Given the description of an element on the screen output the (x, y) to click on. 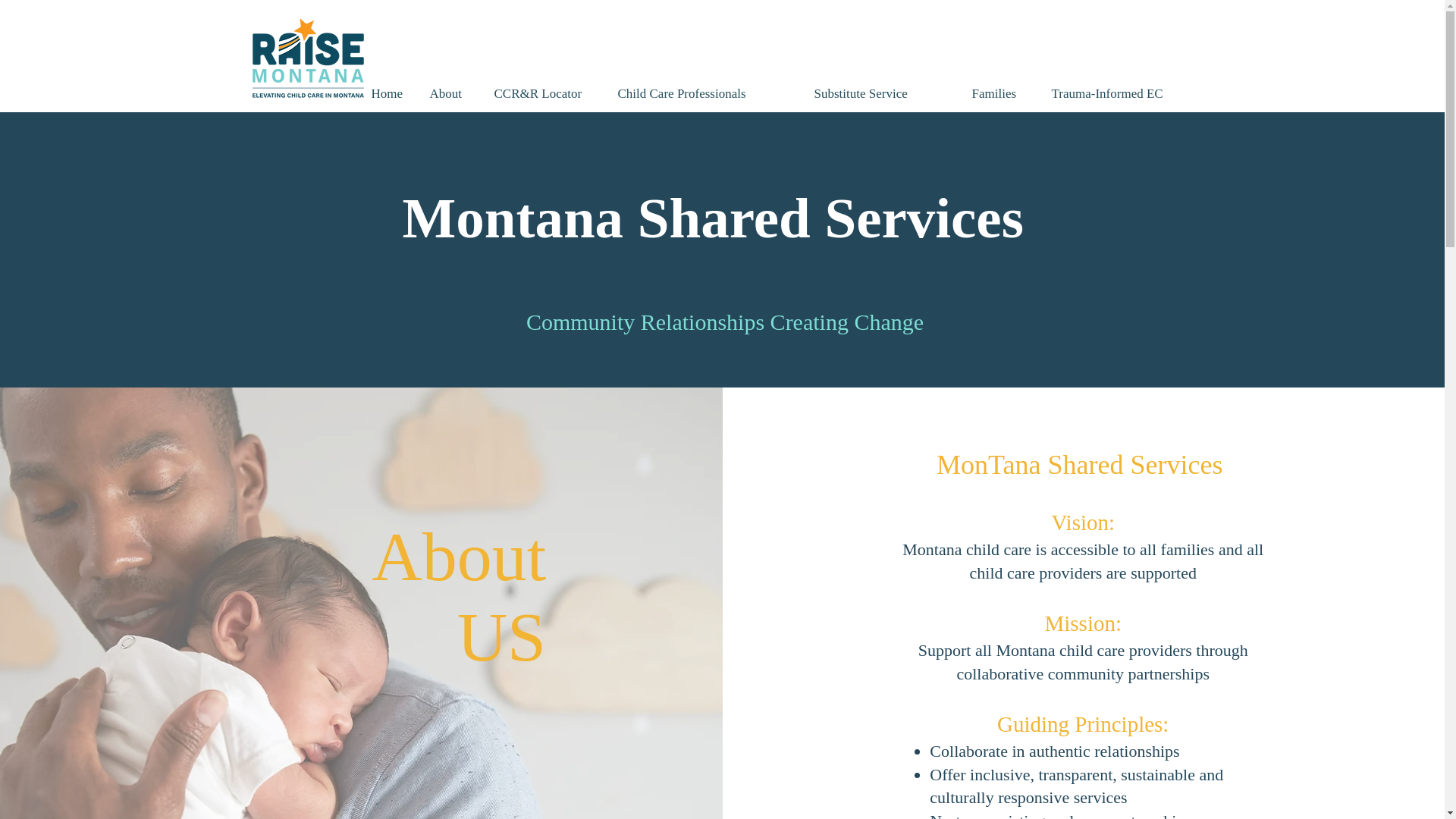
Child Care Professionals (704, 93)
Families (999, 93)
Trauma-Informed EC (1123, 93)
Substitute Service (880, 93)
